Given the description of an element on the screen output the (x, y) to click on. 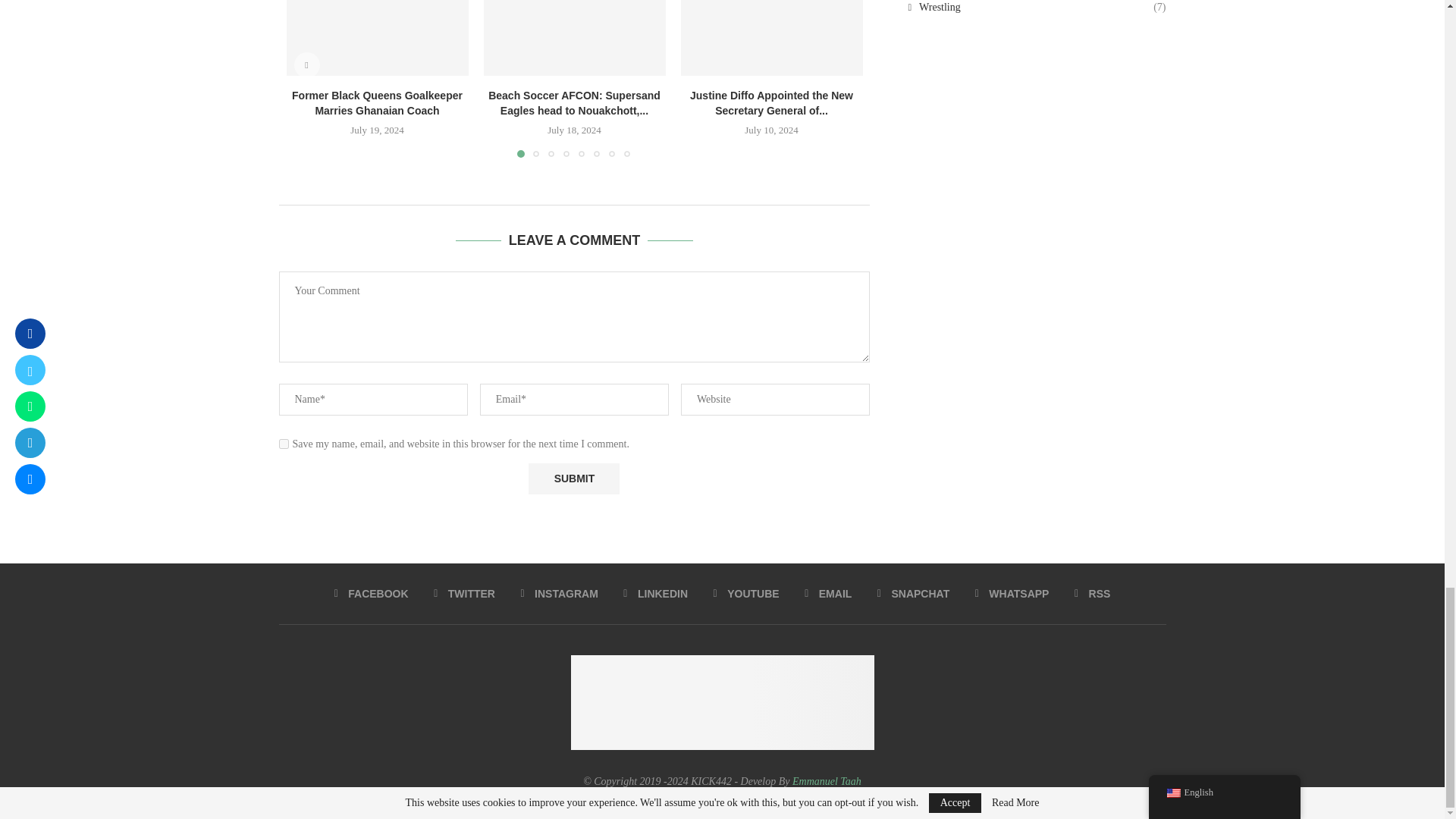
Submit (574, 478)
Former Black Queens Goalkeeper Marries Ghanaian Coach (377, 38)
yes (283, 443)
